Given the description of an element on the screen output the (x, y) to click on. 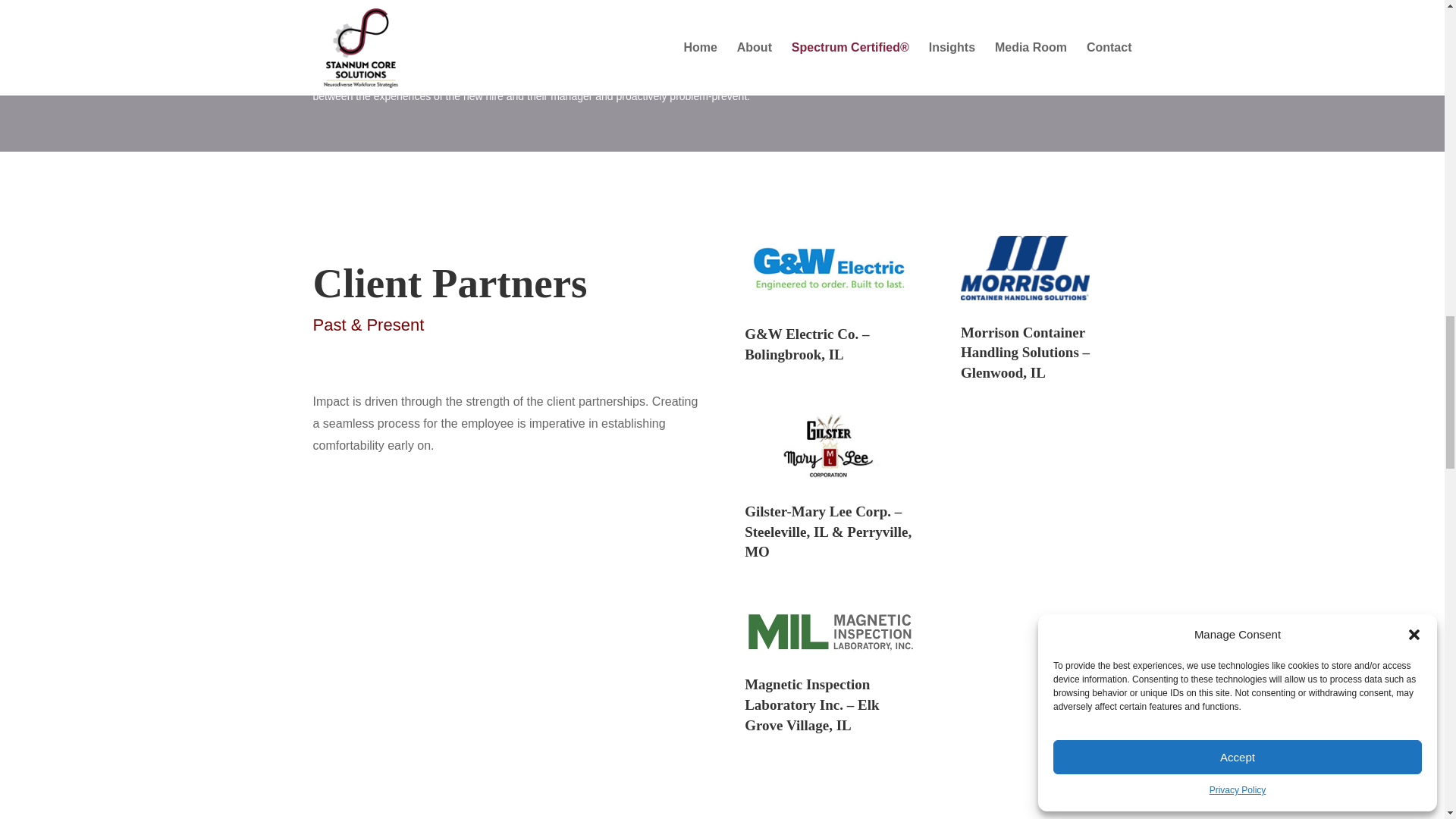
GML SCS (829, 446)
MIL SCS (829, 630)
